Given the description of an element on the screen output the (x, y) to click on. 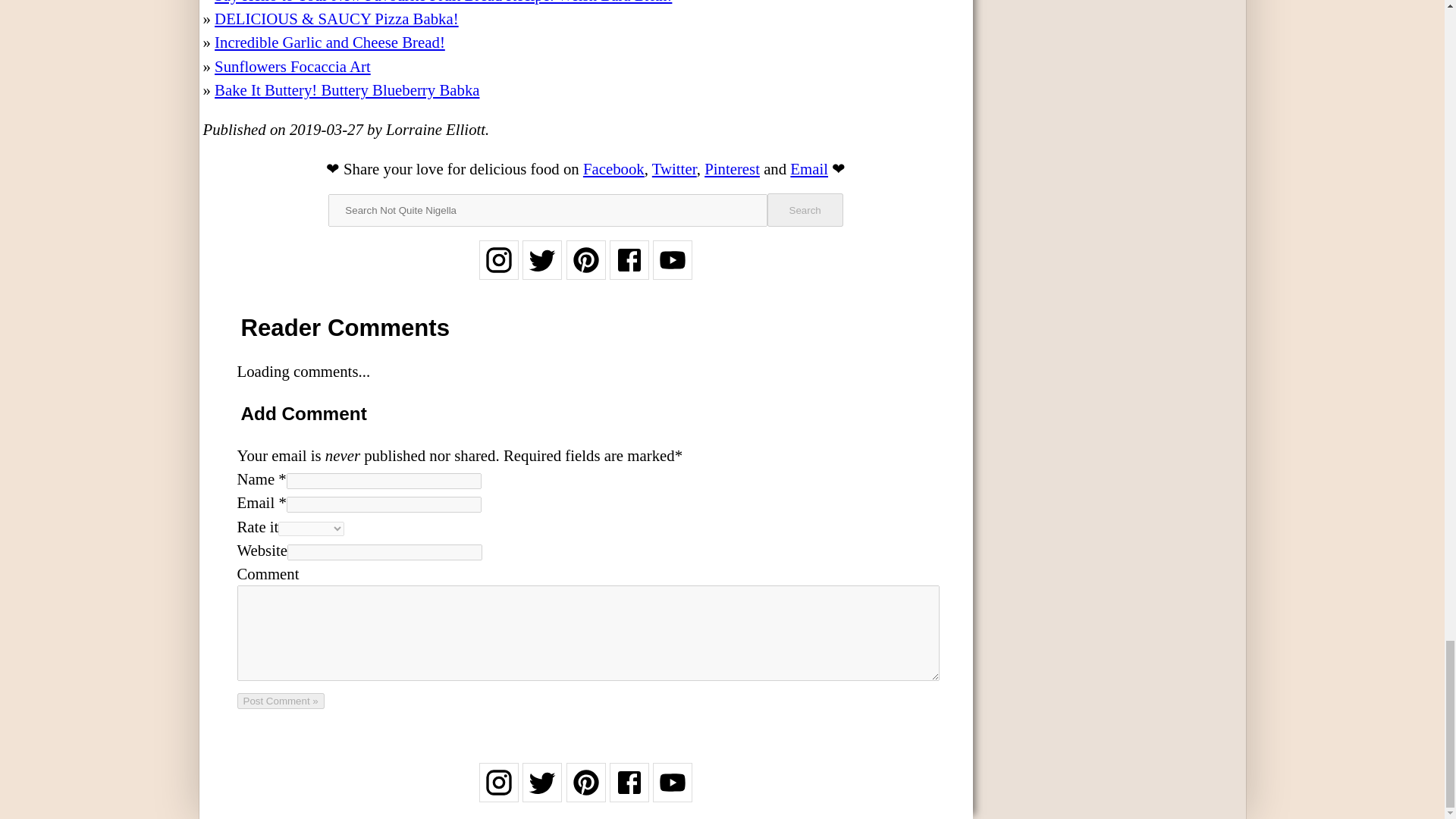
Follow on Instagram (498, 269)
Pin it (732, 168)
Incredible Garlic and Cheese Bread! (329, 41)
Search (805, 209)
Follow on Facebook (629, 791)
Sunflowers Focaccia Art (292, 66)
Tweet (674, 168)
Follow on YouTube (672, 791)
Share on Facebook (614, 168)
Bake It Buttery! Buttery Blueberry Babka (346, 89)
Email (809, 168)
Follow on YouTube (672, 269)
delicious food (513, 168)
Search (805, 209)
Follow on Pinterest (584, 269)
